Given the description of an element on the screen output the (x, y) to click on. 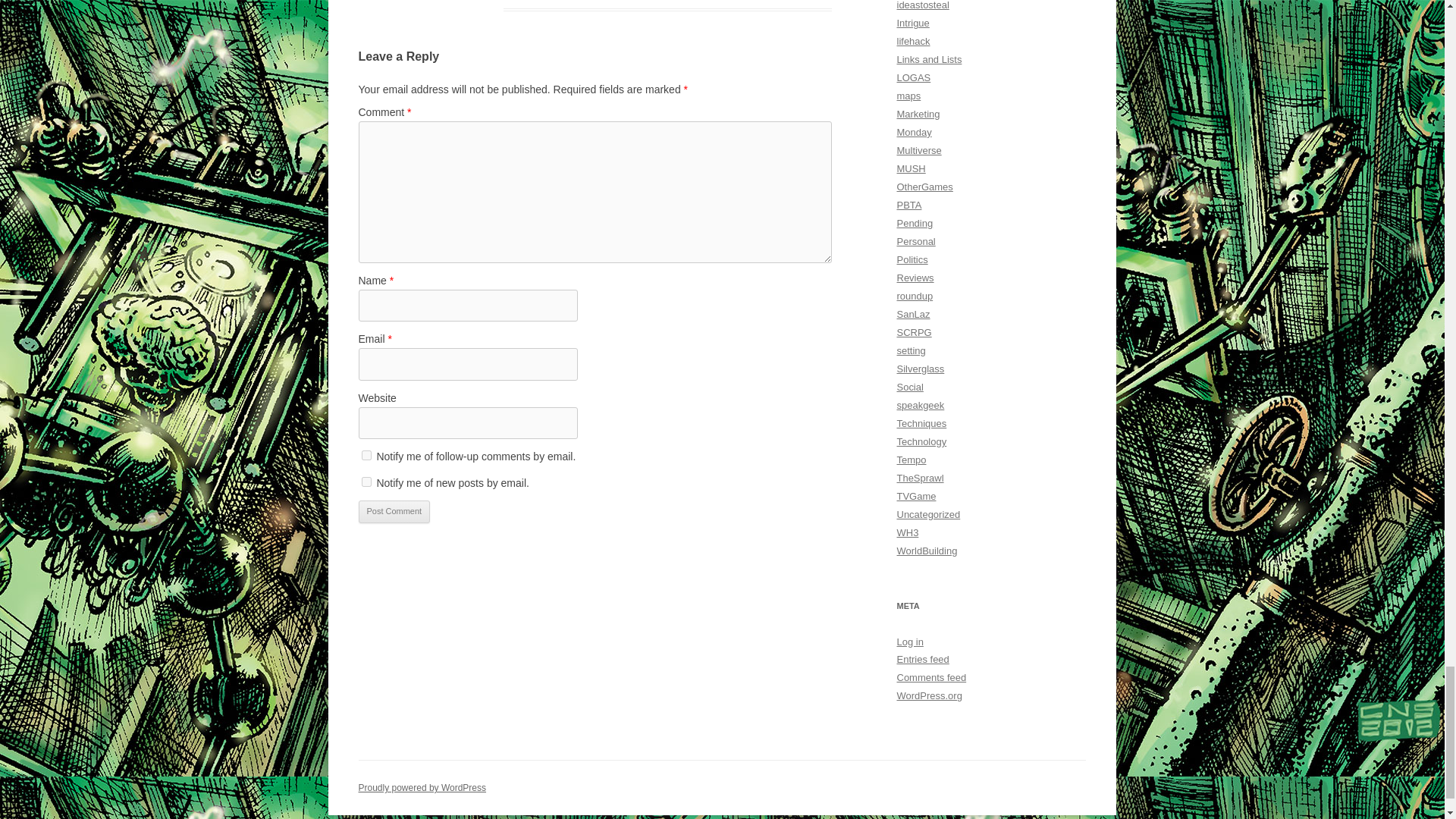
Post Comment (393, 511)
subscribe (366, 481)
Semantic Personal Publishing Platform (422, 787)
Post Comment (393, 511)
subscribe (366, 455)
